Given the description of an element on the screen output the (x, y) to click on. 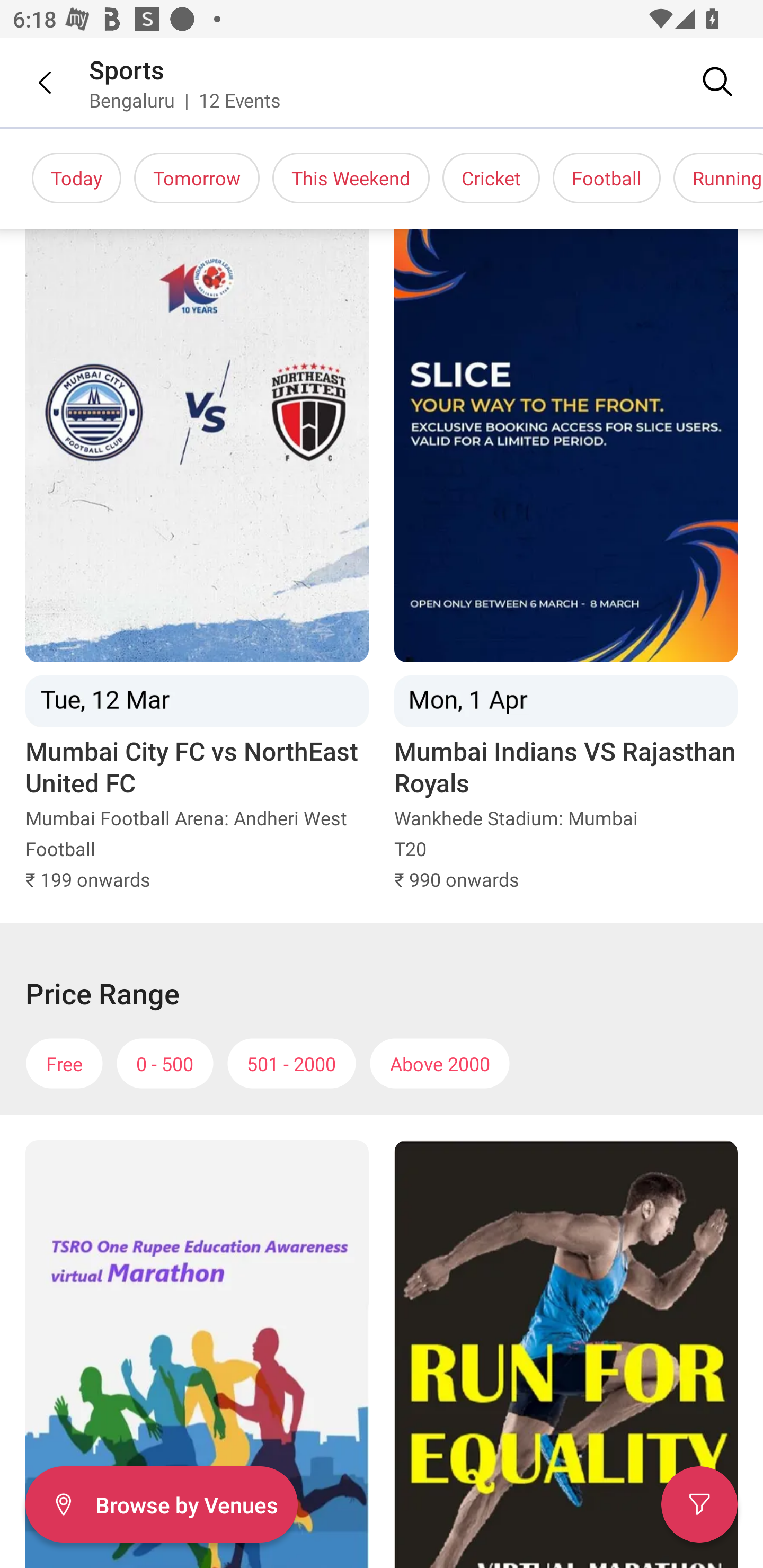
Back (31, 82)
Sports (126, 68)
Bengaluru  |  12 Events (185, 99)
Today (76, 177)
Tomorrow (196, 177)
This Weekend (350, 177)
Cricket (491, 177)
Football (606, 177)
Running (718, 177)
Free (64, 1063)
0 - 500 (164, 1063)
501 - 2000 (291, 1063)
Above 2000 (439, 1063)
Filter Browse by Venues (161, 1504)
Filter (699, 1504)
